Given the description of an element on the screen output the (x, y) to click on. 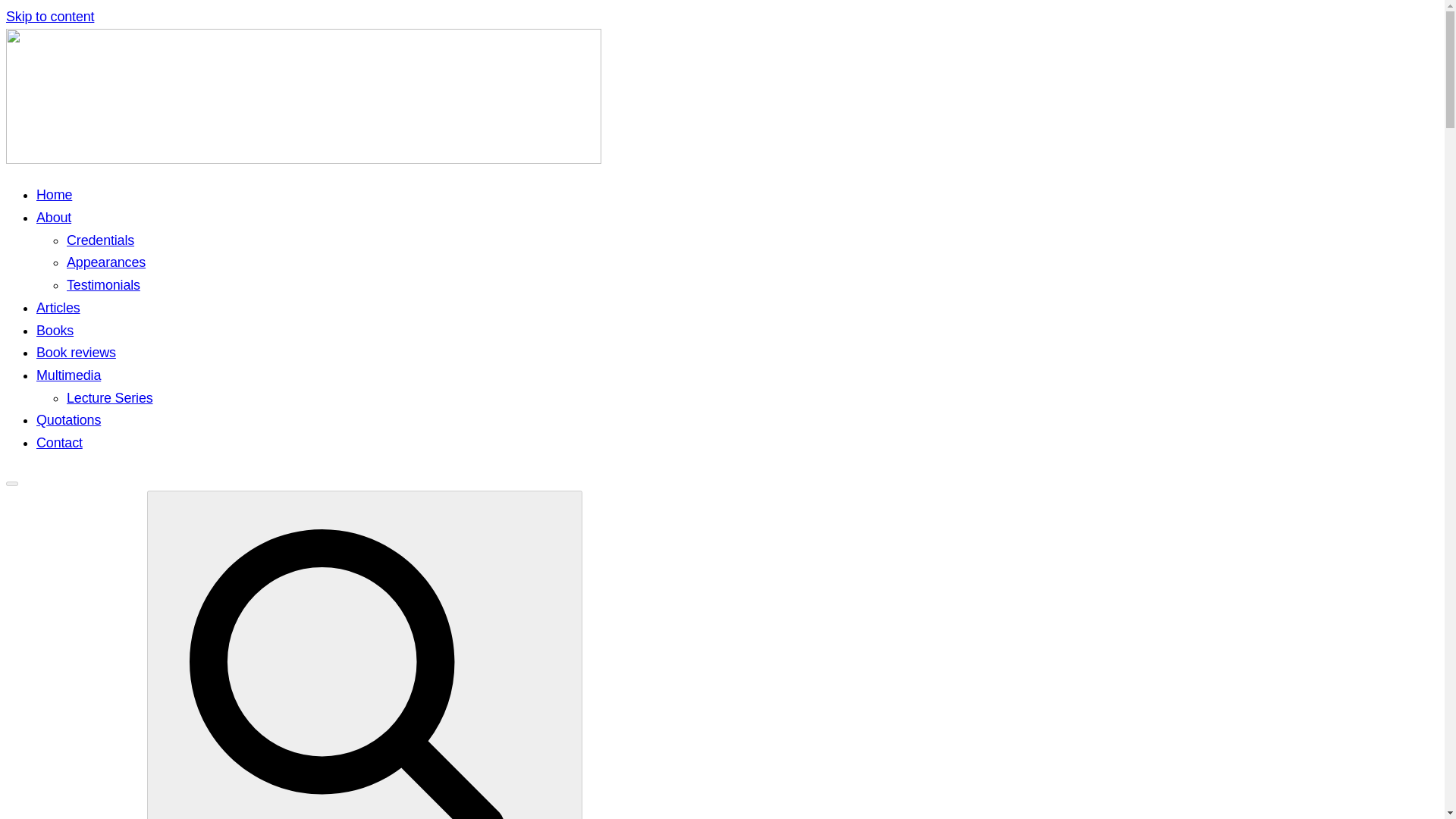
Multimedia (68, 375)
Skip to content (49, 16)
About (53, 217)
Books (55, 330)
Testimonials (102, 284)
Appearances (105, 262)
Book reviews (76, 352)
Quotations (68, 419)
Home (53, 194)
Credentials (99, 240)
Contact (59, 442)
Articles (58, 307)
Lecture Series (109, 397)
